Given the description of an element on the screen output the (x, y) to click on. 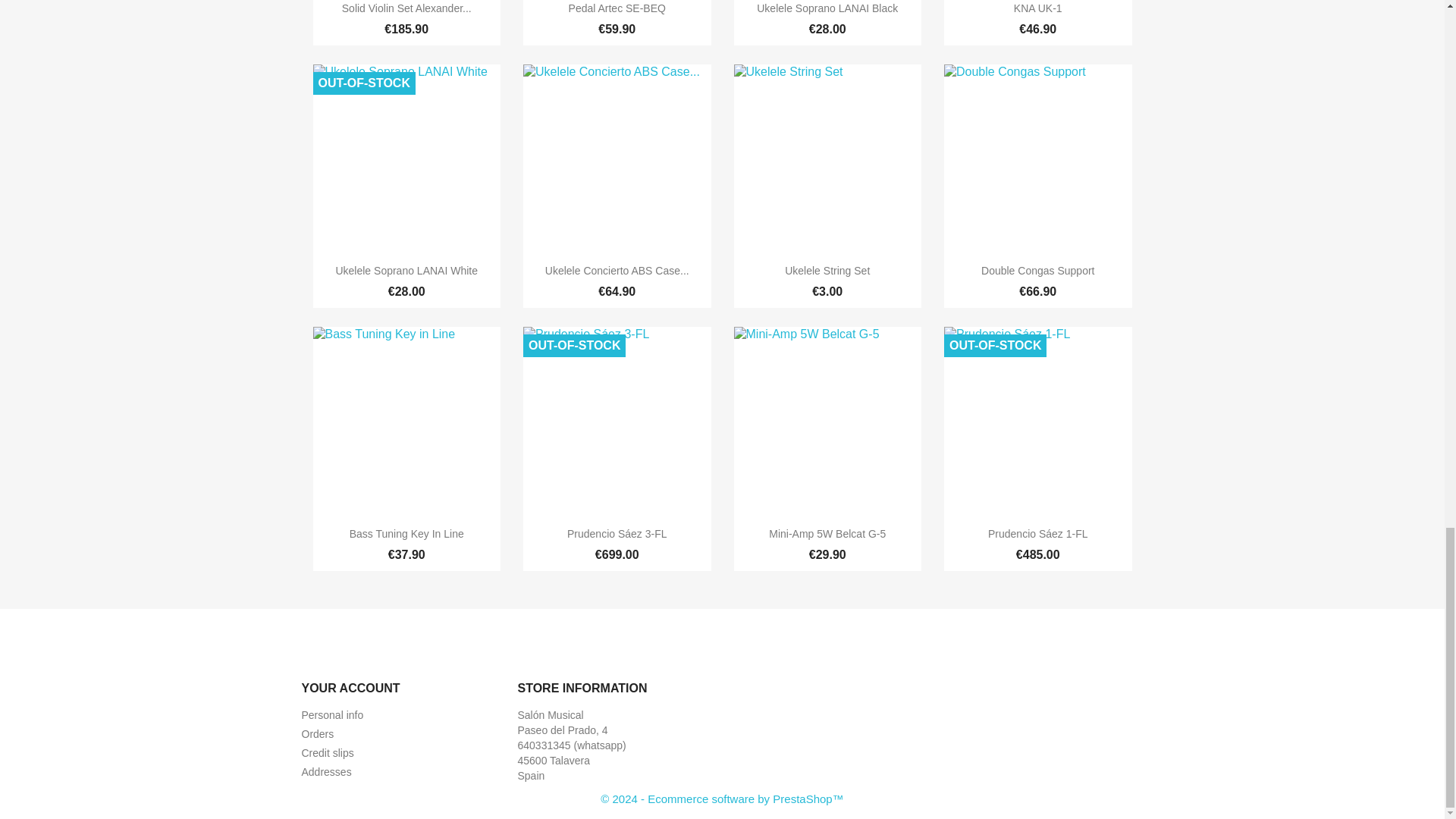
Personal info (332, 715)
Orders (317, 734)
